Given the description of an element on the screen output the (x, y) to click on. 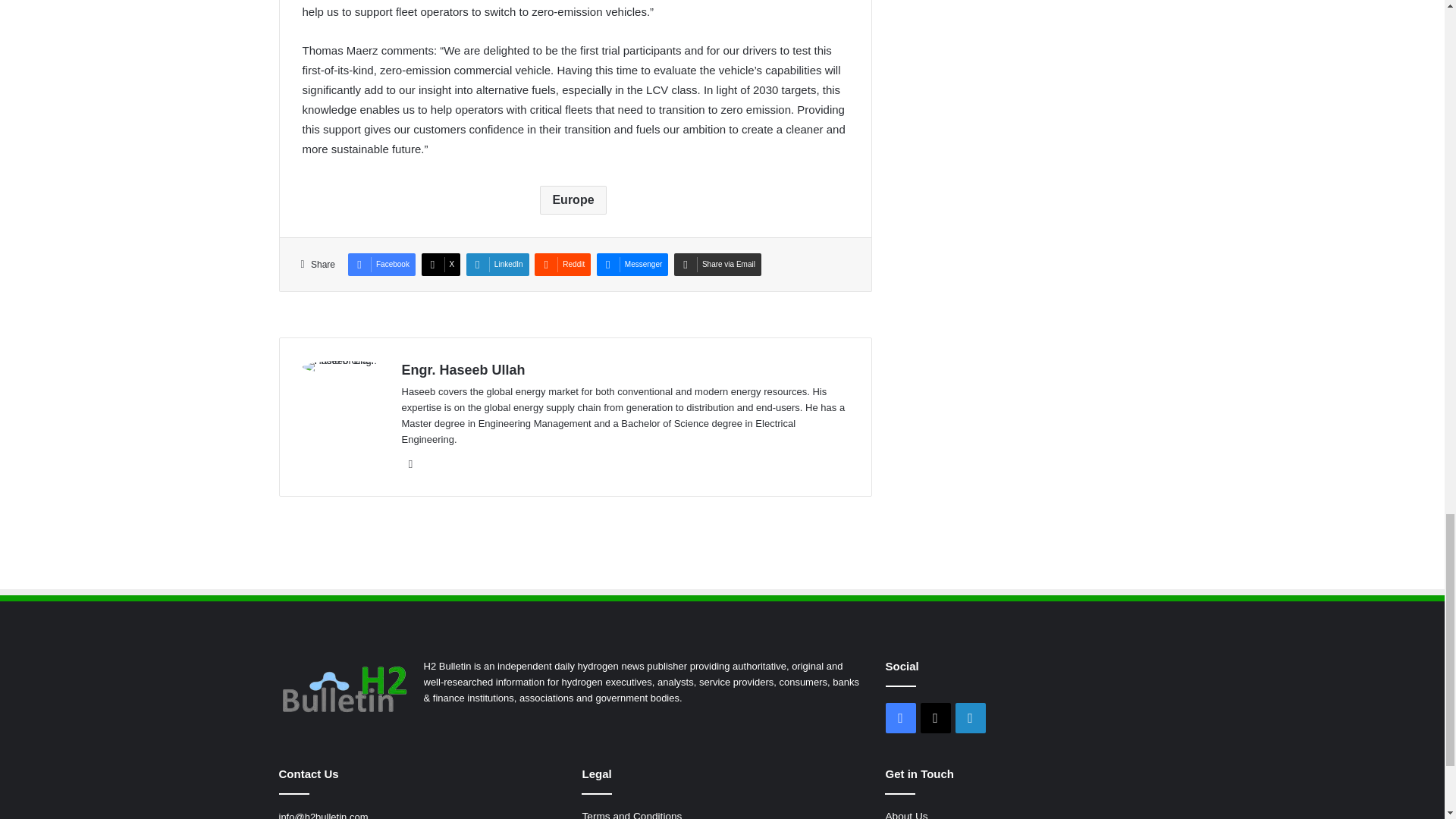
X (441, 264)
Engr. Haseeb Ullah (463, 369)
LinkedIn (410, 464)
Facebook (380, 264)
LinkedIn (497, 264)
LinkedIn (497, 264)
Share via Email (717, 264)
Facebook (380, 264)
Reddit (562, 264)
Reddit (562, 264)
